Given the description of an element on the screen output the (x, y) to click on. 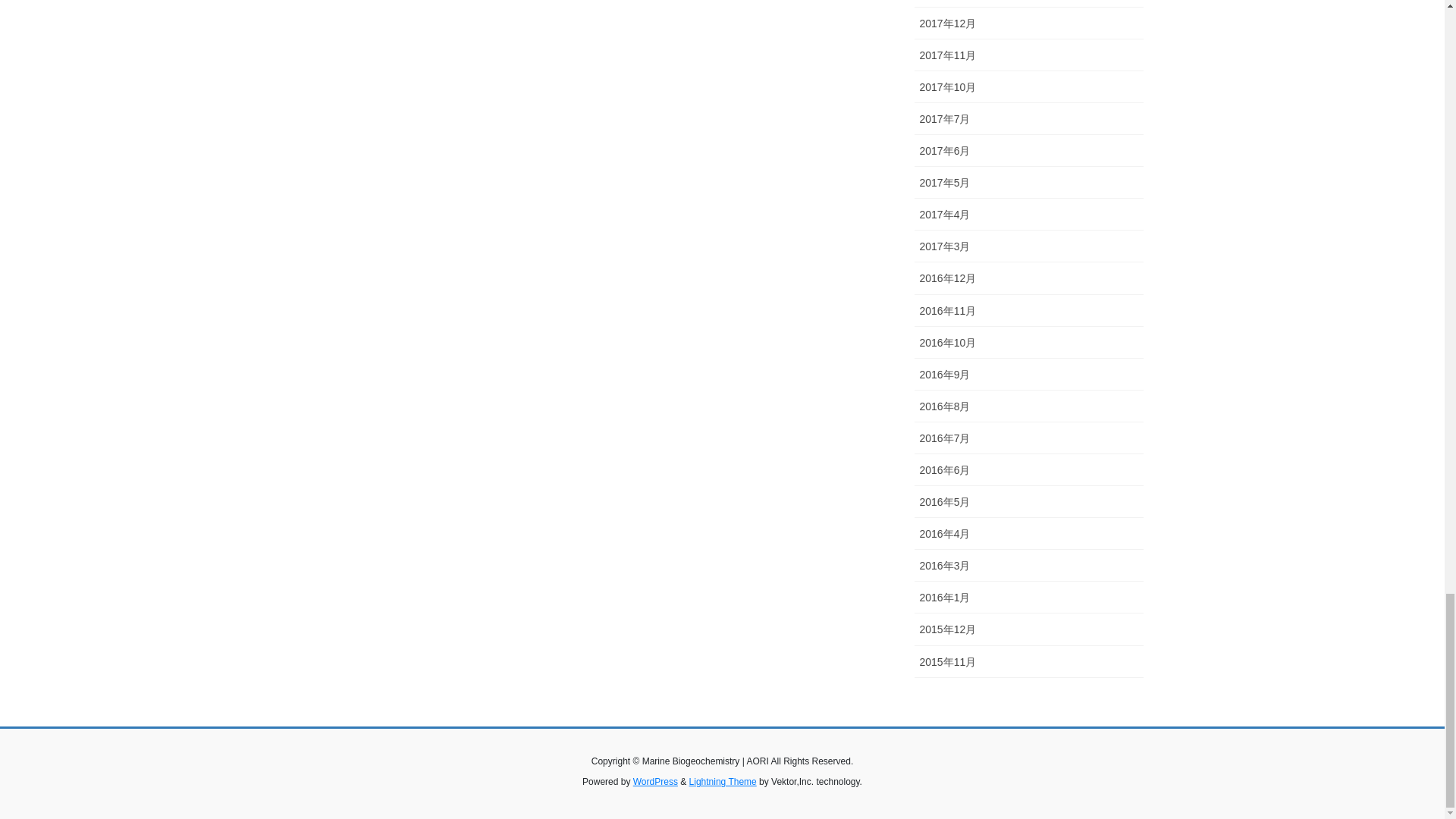
Free WordPress Theme Lightning (722, 781)
